Given the description of an element on the screen output the (x, y) to click on. 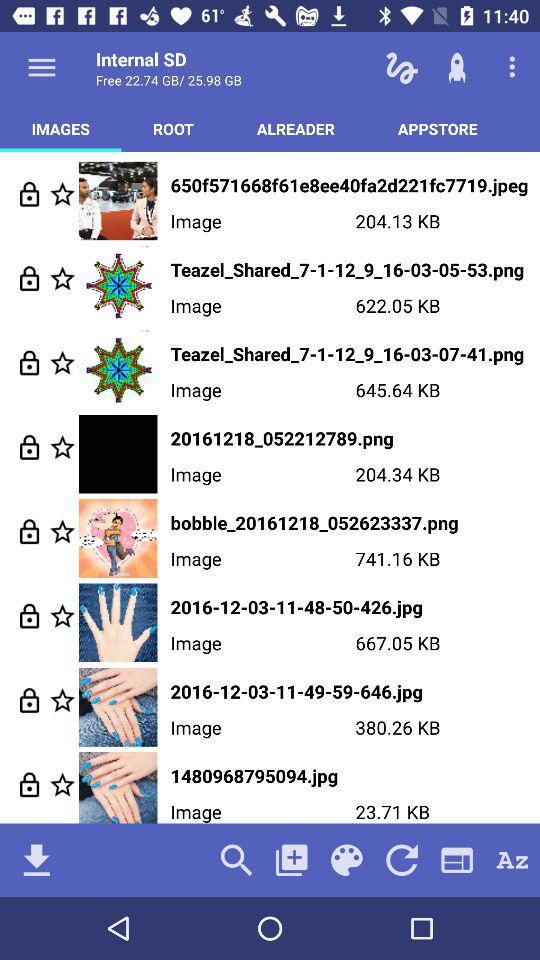
favorite (62, 362)
